Given the description of an element on the screen output the (x, y) to click on. 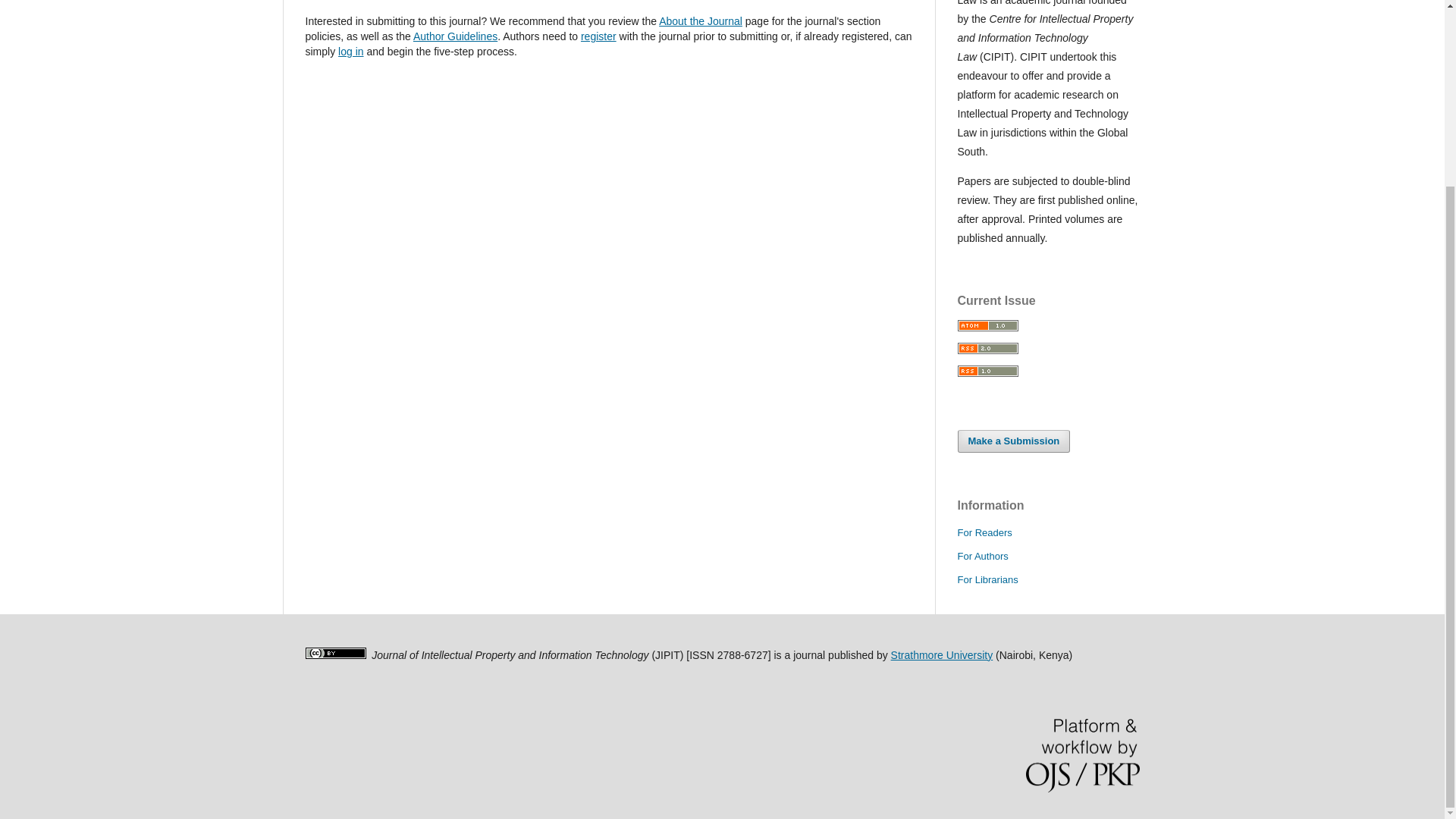
Make a Submission (1013, 440)
For Librarians (986, 579)
Author Guidelines (455, 36)
Strathmore University (941, 654)
register (597, 36)
For Authors (981, 555)
log in (349, 51)
About the Journal (700, 21)
For Readers (983, 532)
